Given the description of an element on the screen output the (x, y) to click on. 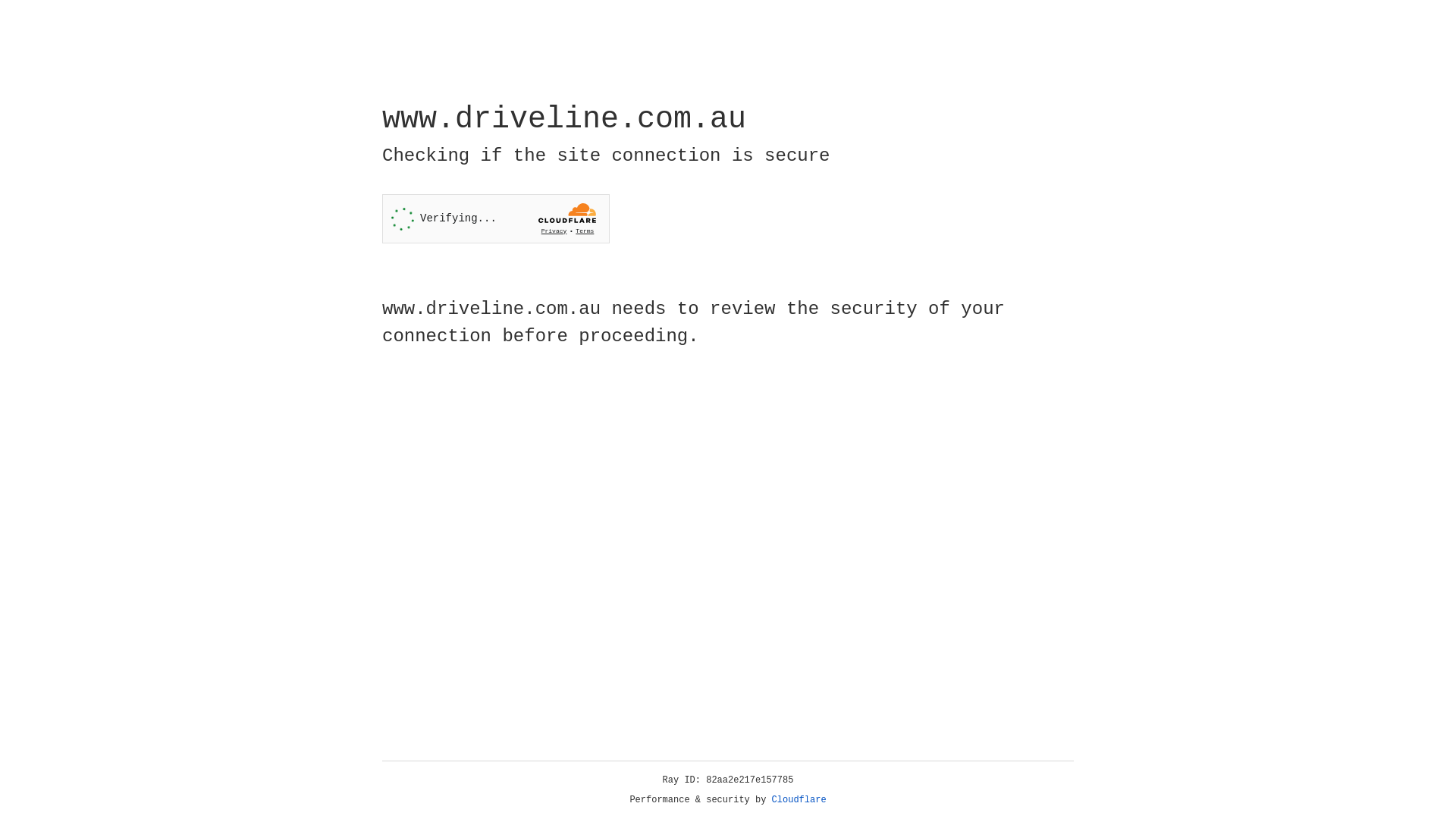
Widget containing a Cloudflare security challenge Element type: hover (495, 218)
Cloudflare Element type: text (798, 799)
